Given the description of an element on the screen output the (x, y) to click on. 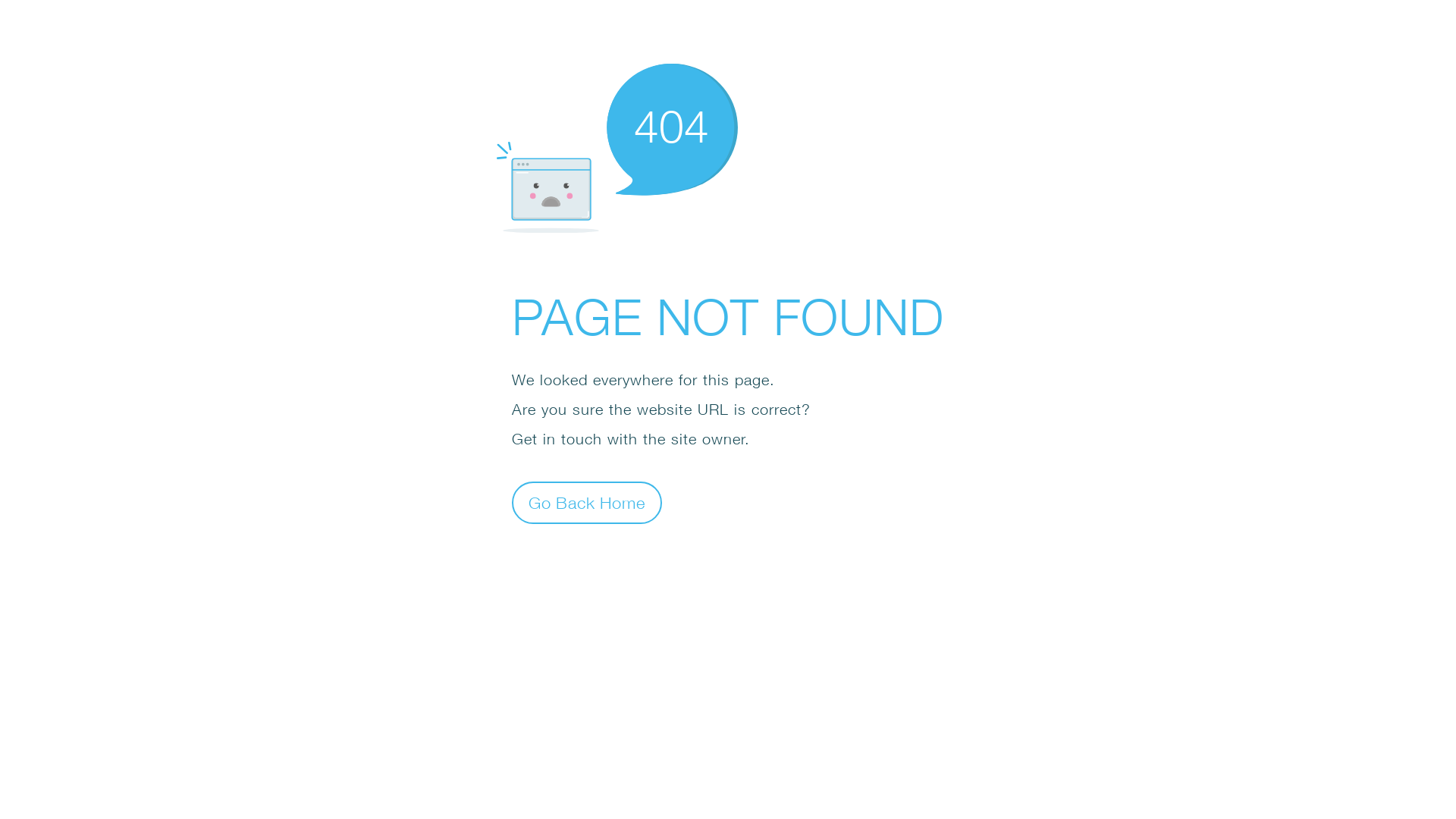
Go Back Home Element type: text (586, 502)
